Given the description of an element on the screen output the (x, y) to click on. 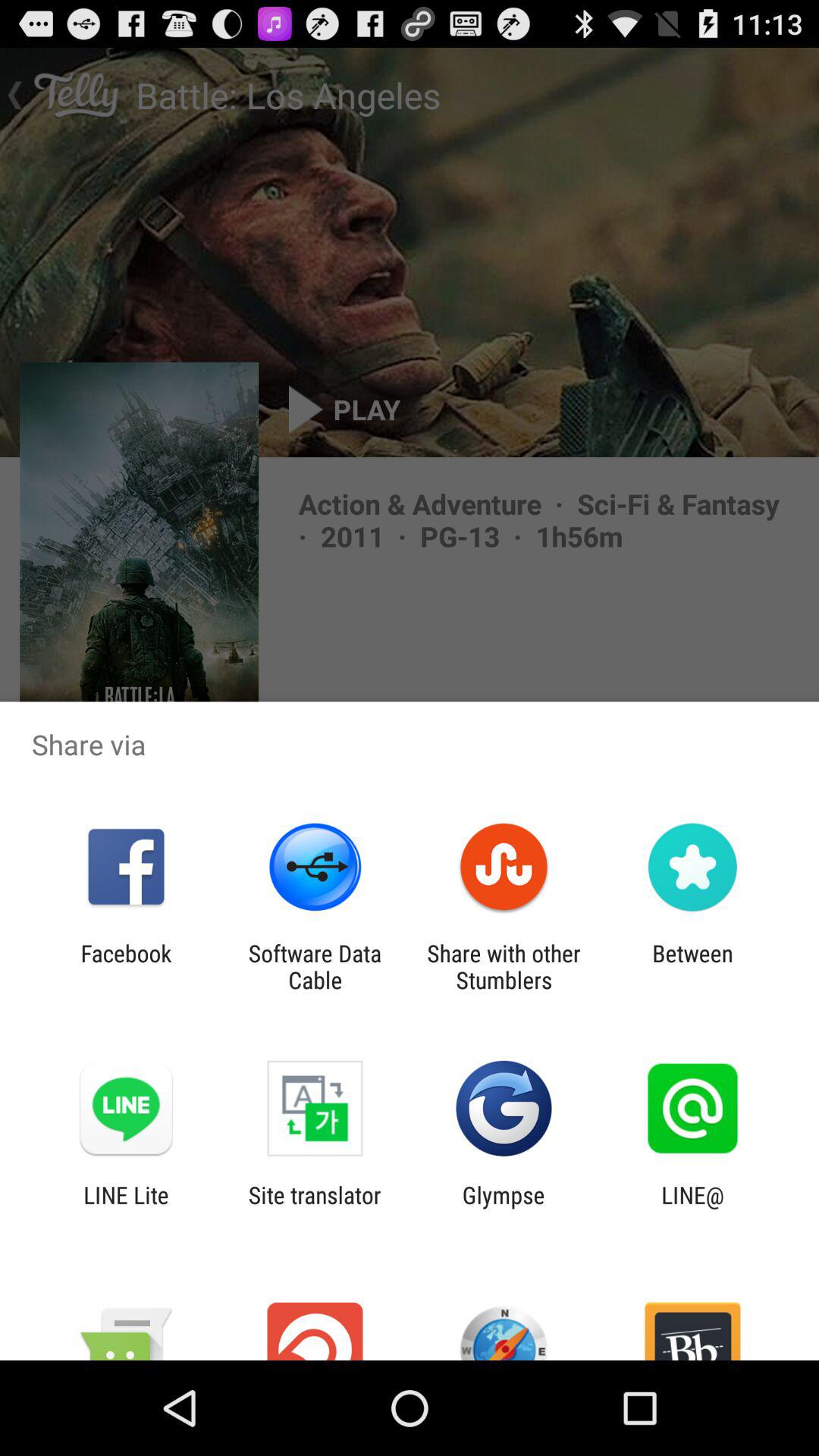
turn off the facebook app (125, 966)
